Given the description of an element on the screen output the (x, y) to click on. 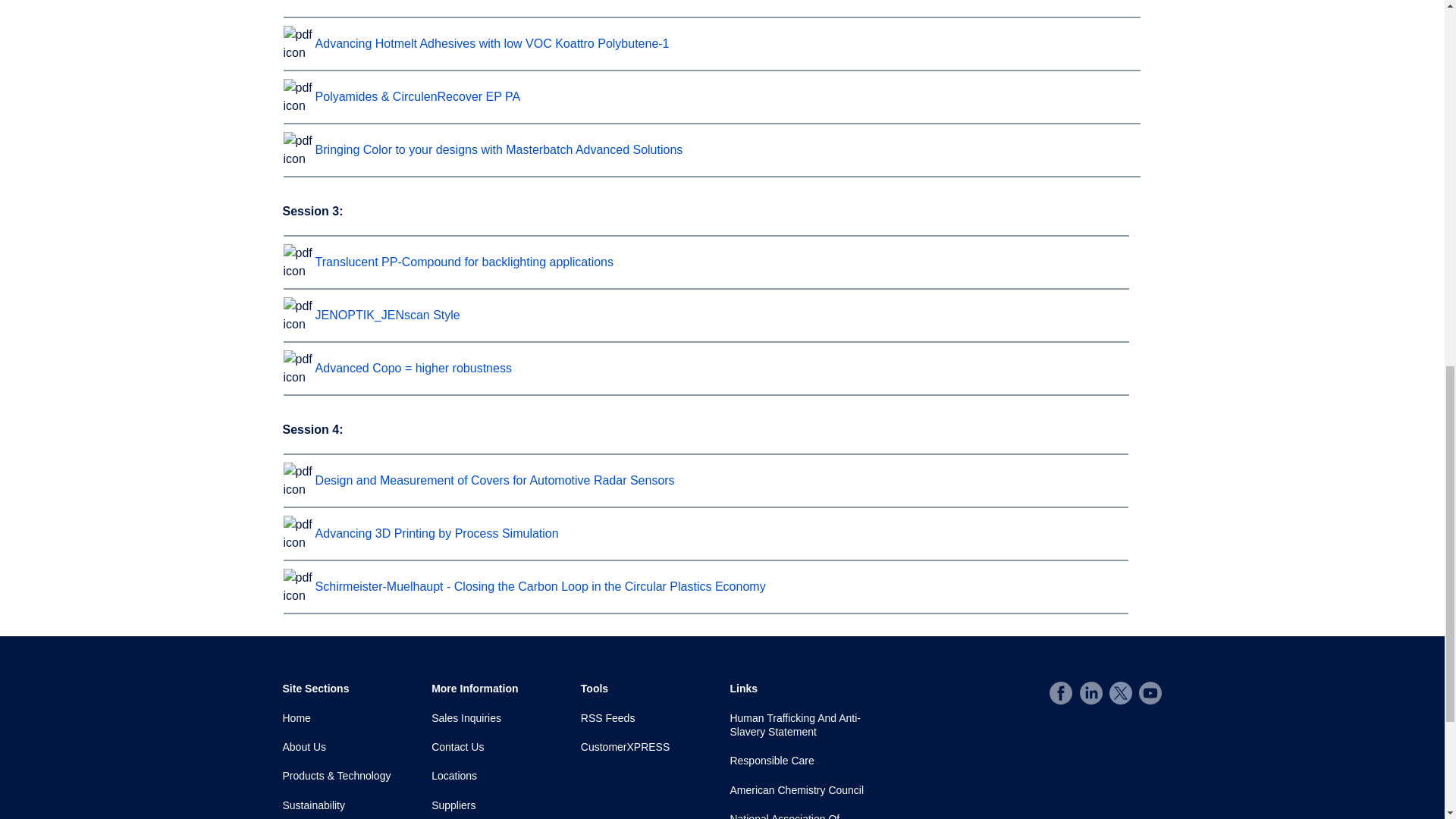
Youtube (1149, 692)
Translucent PP-Compound for backlighting applications (463, 261)
Advancing 3D Printing by Process Simulation (437, 533)
Twitter (1120, 692)
LinkedIn (1091, 692)
Facebook (1060, 692)
